Given the description of an element on the screen output the (x, y) to click on. 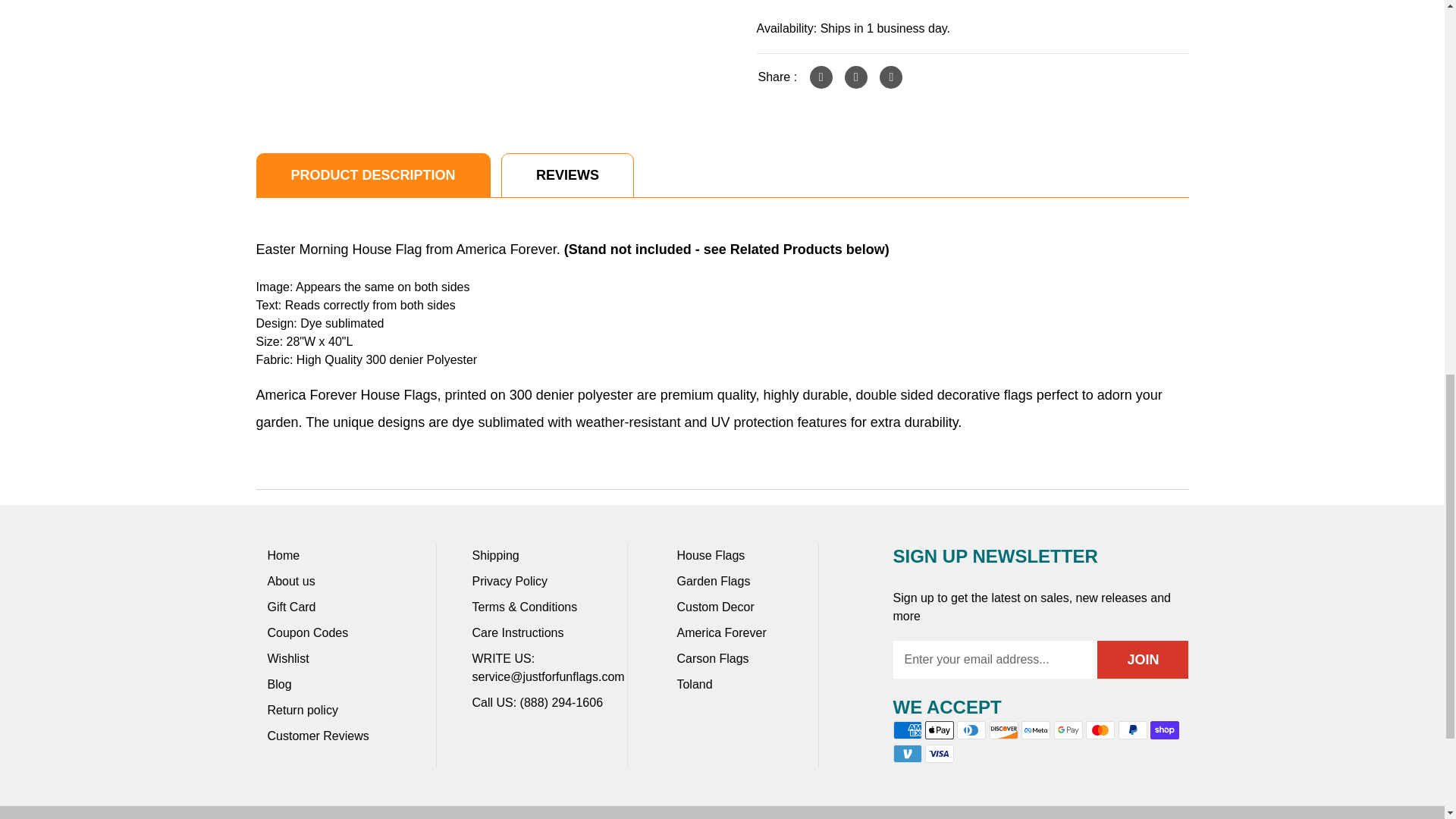
Apple Pay (938, 730)
Google Pay (1068, 730)
Shop Pay (1164, 730)
Mastercard (1100, 730)
Diners Club (970, 730)
Meta Pay (1035, 730)
Discover (1003, 730)
Venmo (907, 753)
PayPal (1132, 730)
Visa (938, 753)
American Express (907, 730)
